Given the description of an element on the screen output the (x, y) to click on. 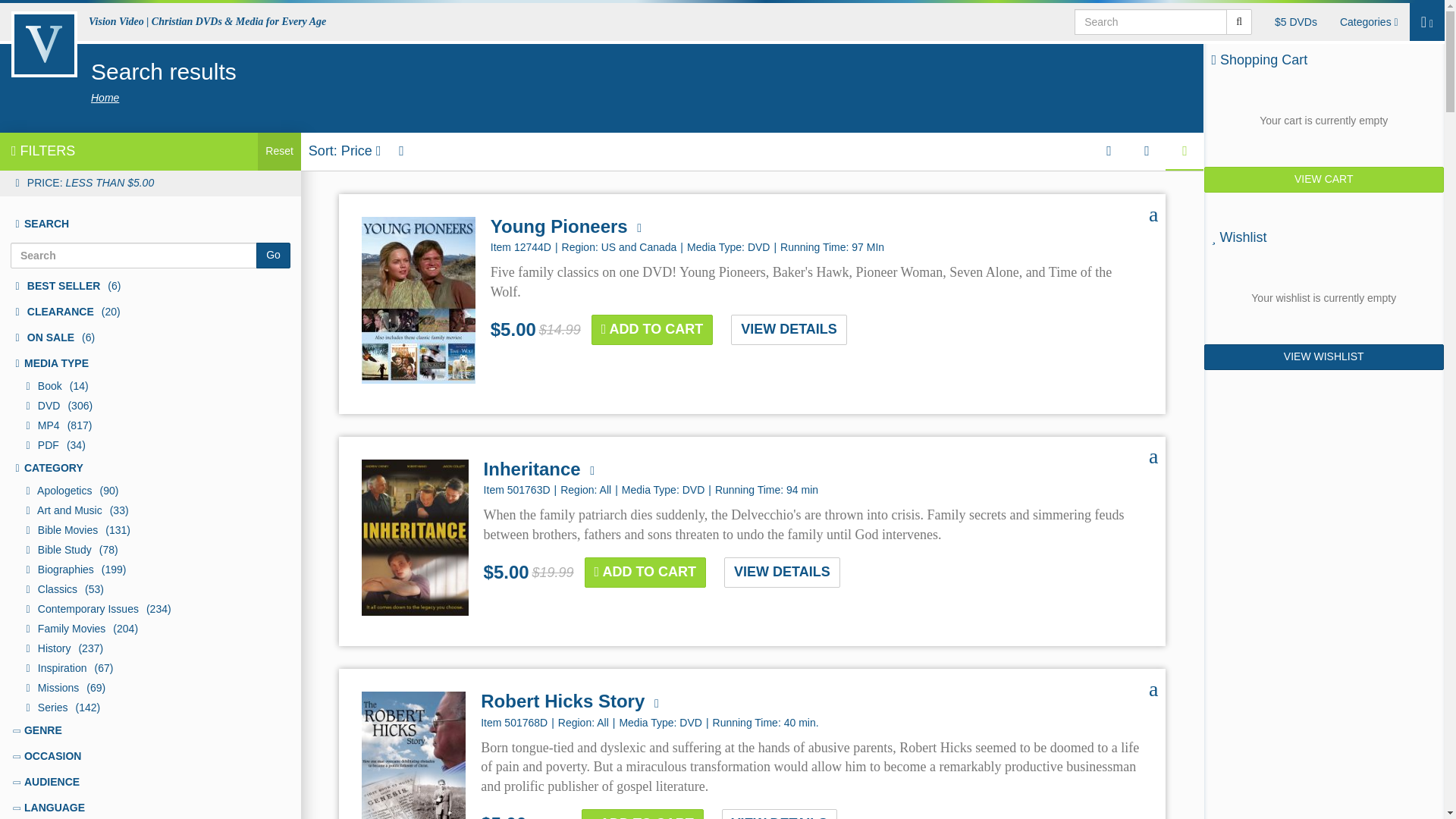
Vision Video (43, 43)
View products in a list (1185, 151)
SEARCH (150, 224)
Home (104, 97)
CATEGORY (150, 468)
Reset (279, 151)
View products as thumbnails (1107, 151)
MEDIA TYPE (150, 363)
CLEARANCE20 (150, 312)
ON SALE6 (150, 338)
Book14 (150, 386)
DVD306 (150, 406)
Go (272, 255)
PDF34 (150, 445)
Art and Music33 (150, 510)
